Given the description of an element on the screen output the (x, y) to click on. 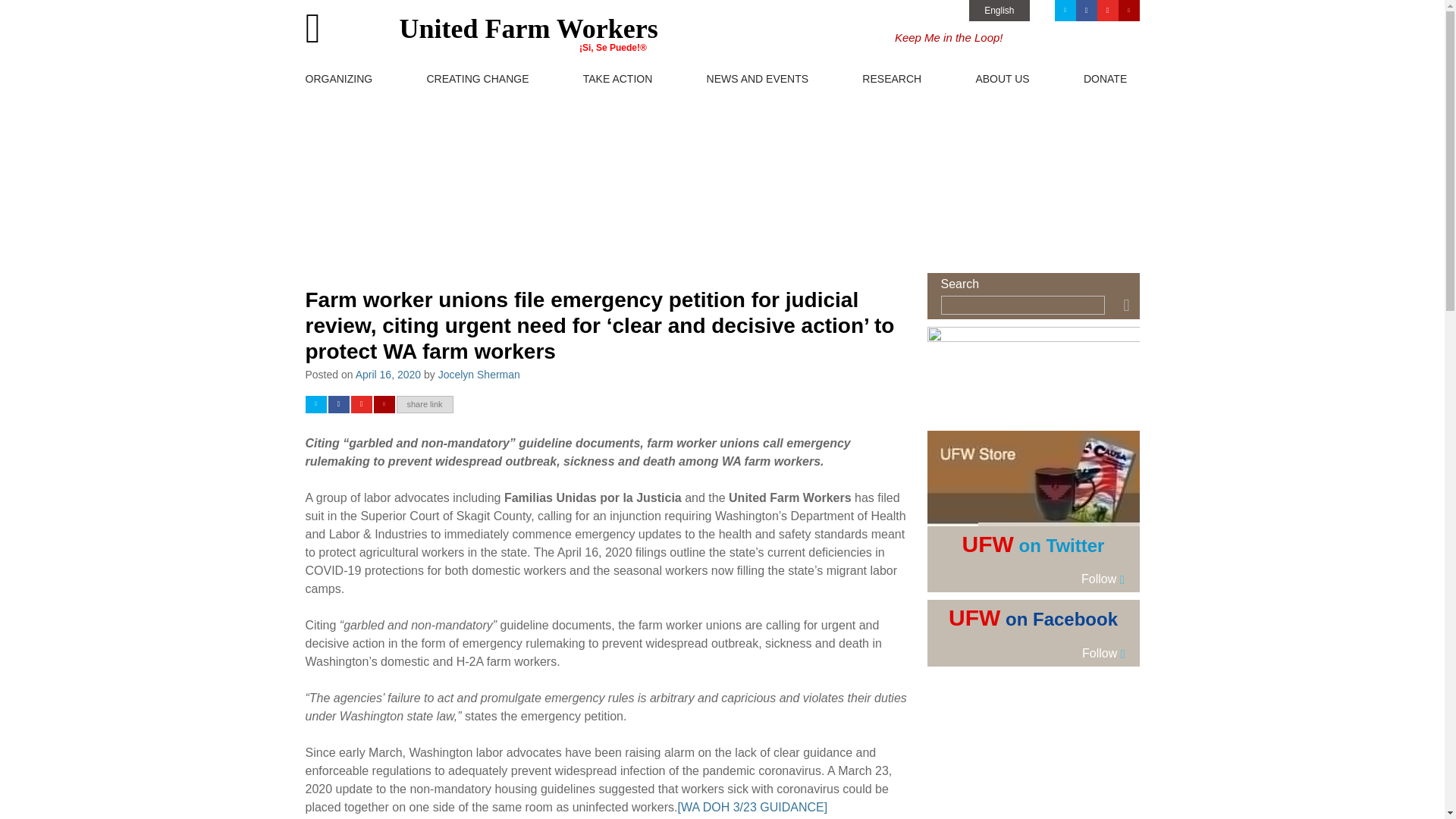
NEWS AND EVENTS (784, 78)
CREATING CHANGE (504, 78)
ABOUT US (1029, 78)
ORGANIZING (365, 78)
RESEARCH (918, 78)
TAKE ACTION (644, 78)
United Farm Workers (481, 25)
